Given the description of an element on the screen output the (x, y) to click on. 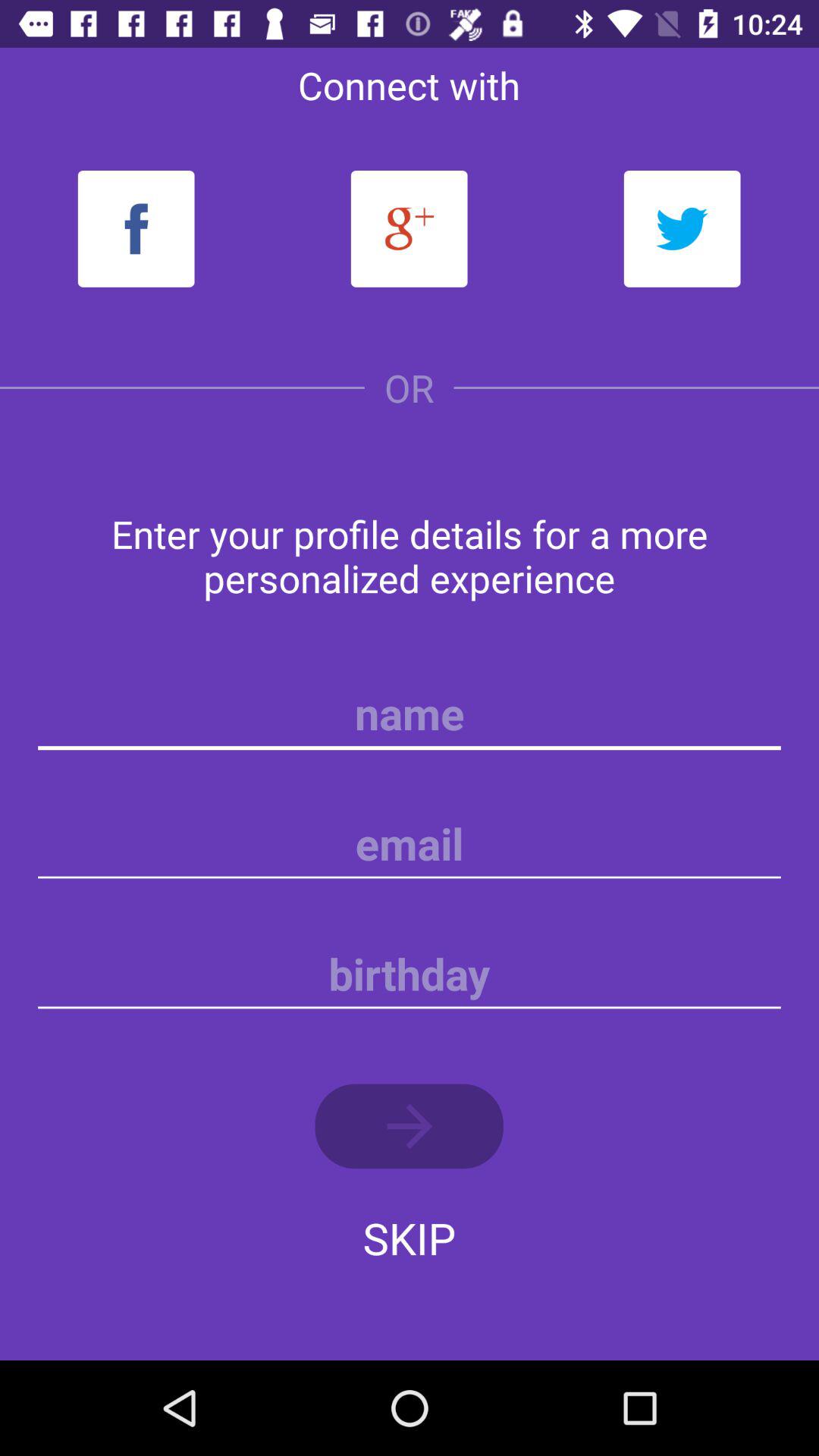
select email entry field (409, 843)
